Given the description of an element on the screen output the (x, y) to click on. 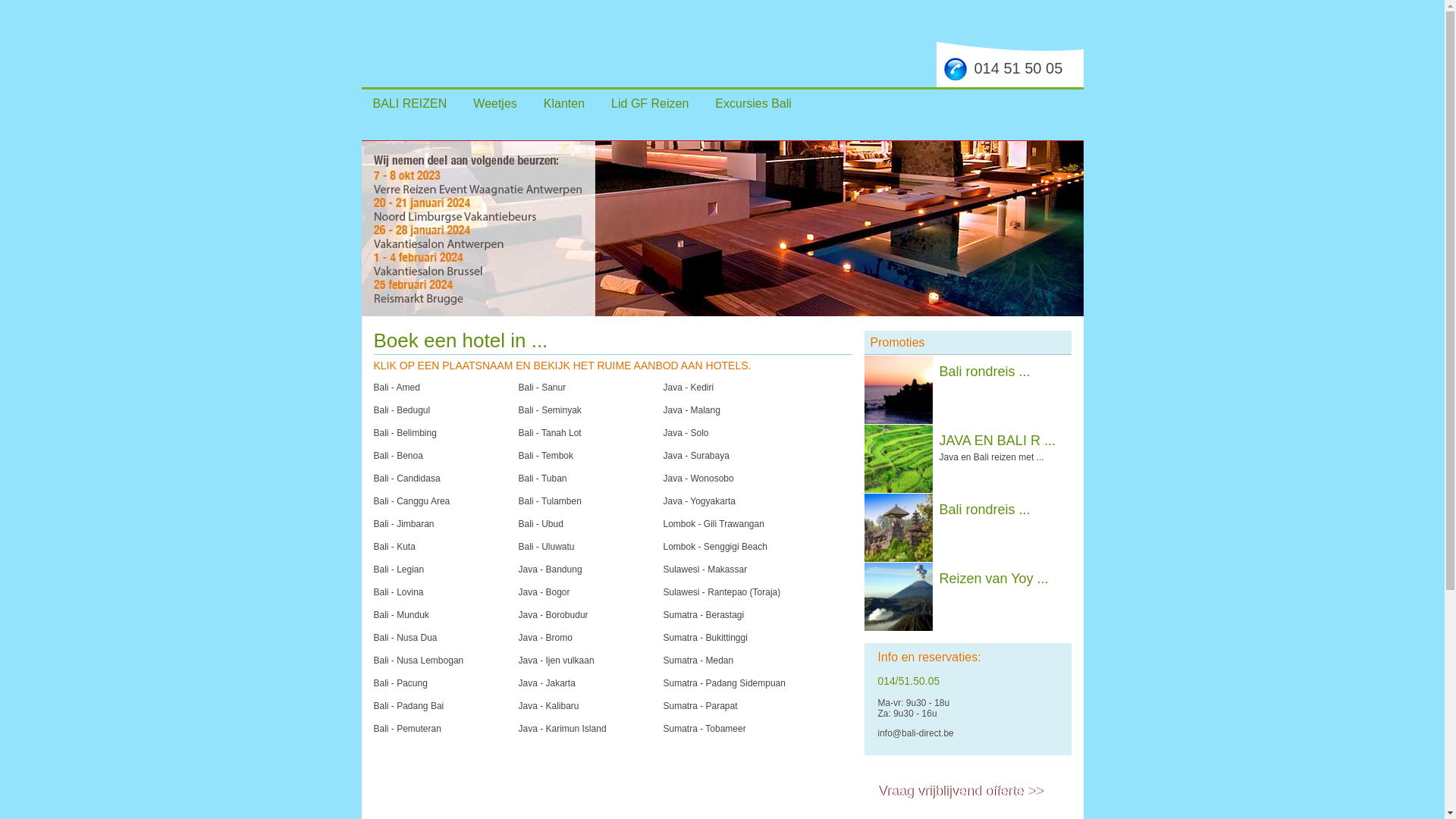
Sumatra - Berastagi Element type: text (702, 614)
Vraag vrijblijvend offerte >> Element type: text (960, 790)
Bali - Pacung Element type: text (399, 682)
Java en Bali reizen met ... Element type: text (990, 456)
Java - Jakarta Element type: text (546, 682)
Bali - Tanah Lot Element type: text (549, 432)
Bali - Munduk Element type: text (400, 614)
Java - Kediri Element type: text (687, 386)
Sumatra - Parapat Element type: text (699, 705)
Java - Ijen vulkaan Element type: text (556, 659)
Java - Kalibaru Element type: text (548, 705)
Bali - Uluwatu Element type: text (546, 546)
Java - Surabaya Element type: text (695, 455)
Bali - Seminyak Element type: text (549, 409)
Bali - Candidasa Element type: text (406, 477)
Java - Bromo Element type: text (545, 637)
Java - Borobudur Element type: text (553, 614)
Lombok - Gili Trawangan Element type: text (712, 523)
Bali - Lovina Element type: text (398, 591)
Bali - Tuban Element type: text (542, 477)
BALI REIZEN Element type: text (409, 103)
Java - Bogor Element type: text (544, 591)
Excursies Bali Element type: text (752, 103)
Java - Solo Element type: text (685, 432)
Sumatra - Bukittinggi Element type: text (704, 637)
Bali - Tulamben Element type: text (549, 500)
Bali - Amed Element type: text (396, 386)
Bali - Nusa Lembogan Element type: text (418, 659)
Lombok - Senggigi Beach Element type: text (714, 546)
Bali - Jimbaran Element type: text (403, 523)
info@bali-direct.be Element type: text (915, 733)
Bali rondreis ... Element type: text (983, 509)
Sumatra - Padang Sidempuan Element type: text (723, 682)
Klanten Element type: text (564, 103)
Bali - Benoa Element type: text (397, 455)
Bali - Bedugul Element type: text (401, 409)
Bali - Pemuteran Element type: text (406, 728)
Java - Malang Element type: text (690, 409)
Java - Yogyakarta Element type: text (698, 500)
Weetjes Element type: text (494, 103)
Bali - Sanur Element type: text (542, 386)
Reizen van Yoy ... Element type: text (993, 578)
Sumatra - Tobameer Element type: text (703, 728)
Bali - Tembok Element type: text (545, 455)
JAVA EN BALI R ... Element type: text (996, 440)
Sulawesi - Rantepao (Toraja) Element type: text (721, 591)
Sumatra - Medan Element type: text (697, 659)
Sulawesi - Makassar Element type: text (704, 568)
Bali - Ubud Element type: text (540, 523)
Lid GF Reizen Element type: text (649, 103)
Java - Karimun Island Element type: text (562, 728)
Bali - Padang Bai Element type: text (408, 705)
Java - Wonosobo Element type: text (697, 477)
Bali - Legian Element type: text (398, 568)
Bali rondreis ... Element type: text (983, 371)
Java - Bandung Element type: text (550, 568)
Bali - Canggu Area Element type: text (411, 500)
Bali - Nusa Dua Element type: text (404, 637)
Bali - Kuta Element type: text (393, 546)
Bali - Belimbing Element type: text (404, 432)
